Given the description of an element on the screen output the (x, y) to click on. 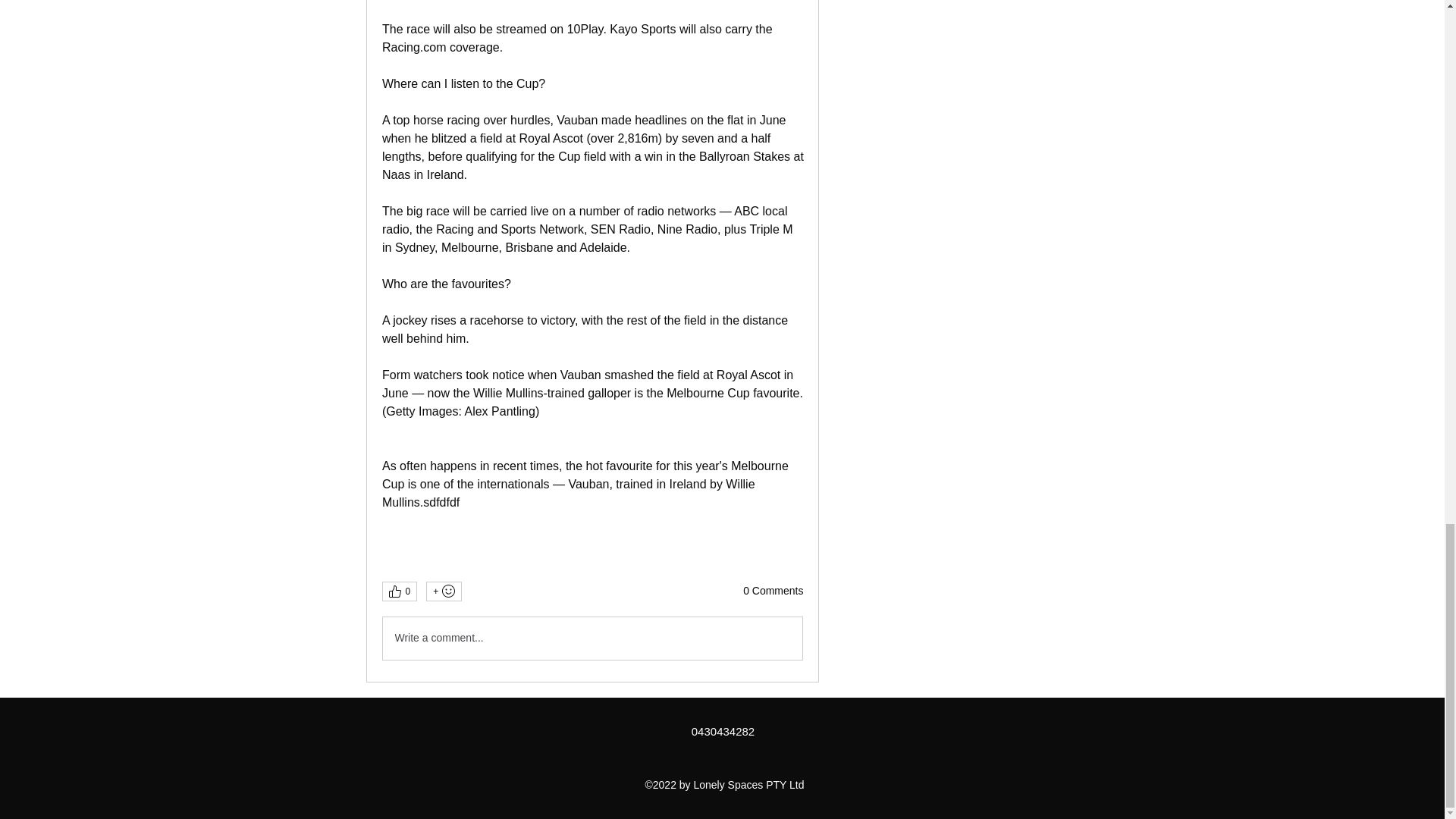
0 Comments (772, 590)
Write a comment... (591, 638)
